Given the description of an element on the screen output the (x, y) to click on. 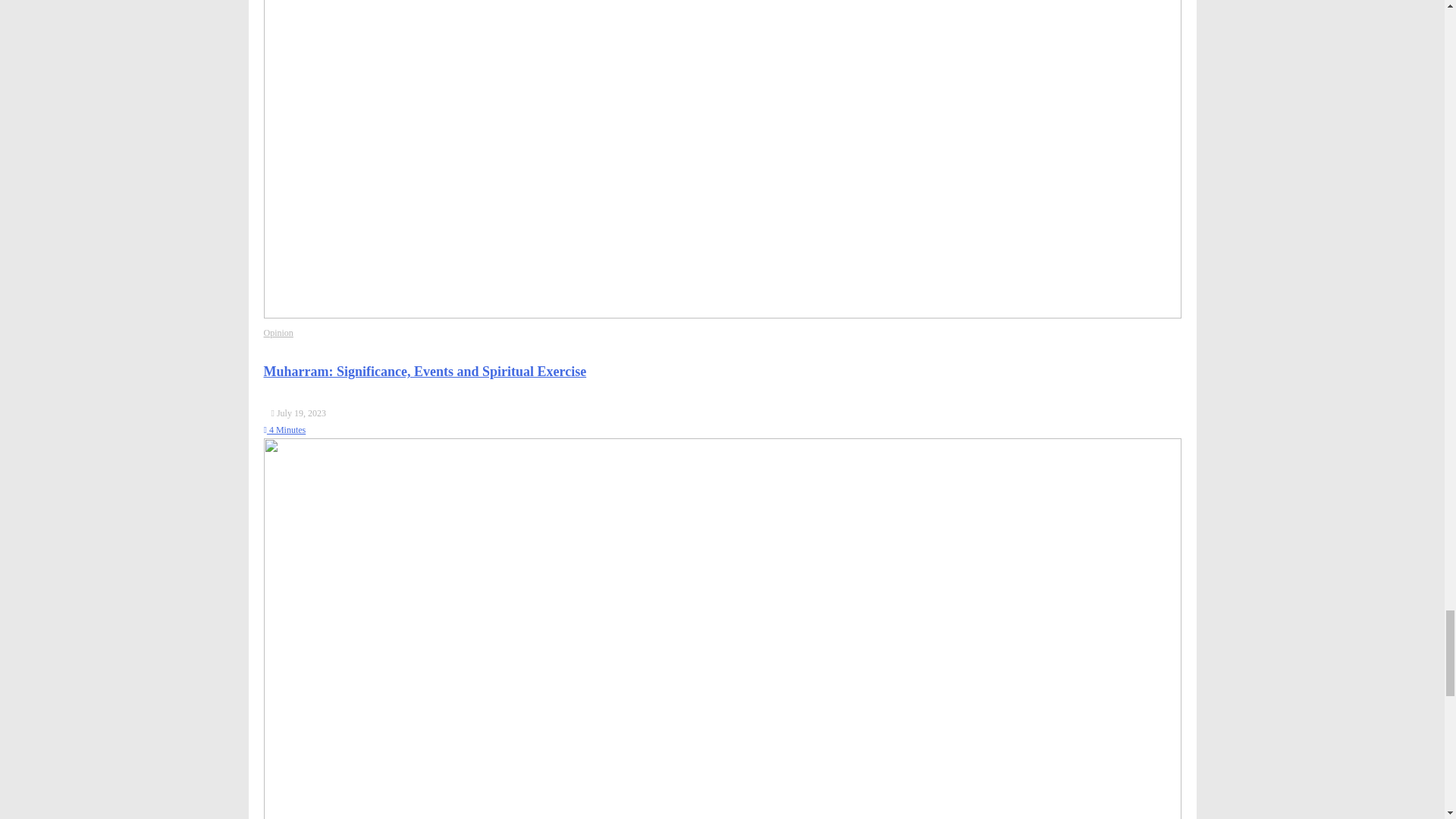
Estimated Reading Time of Article (284, 429)
